Given the description of an element on the screen output the (x, y) to click on. 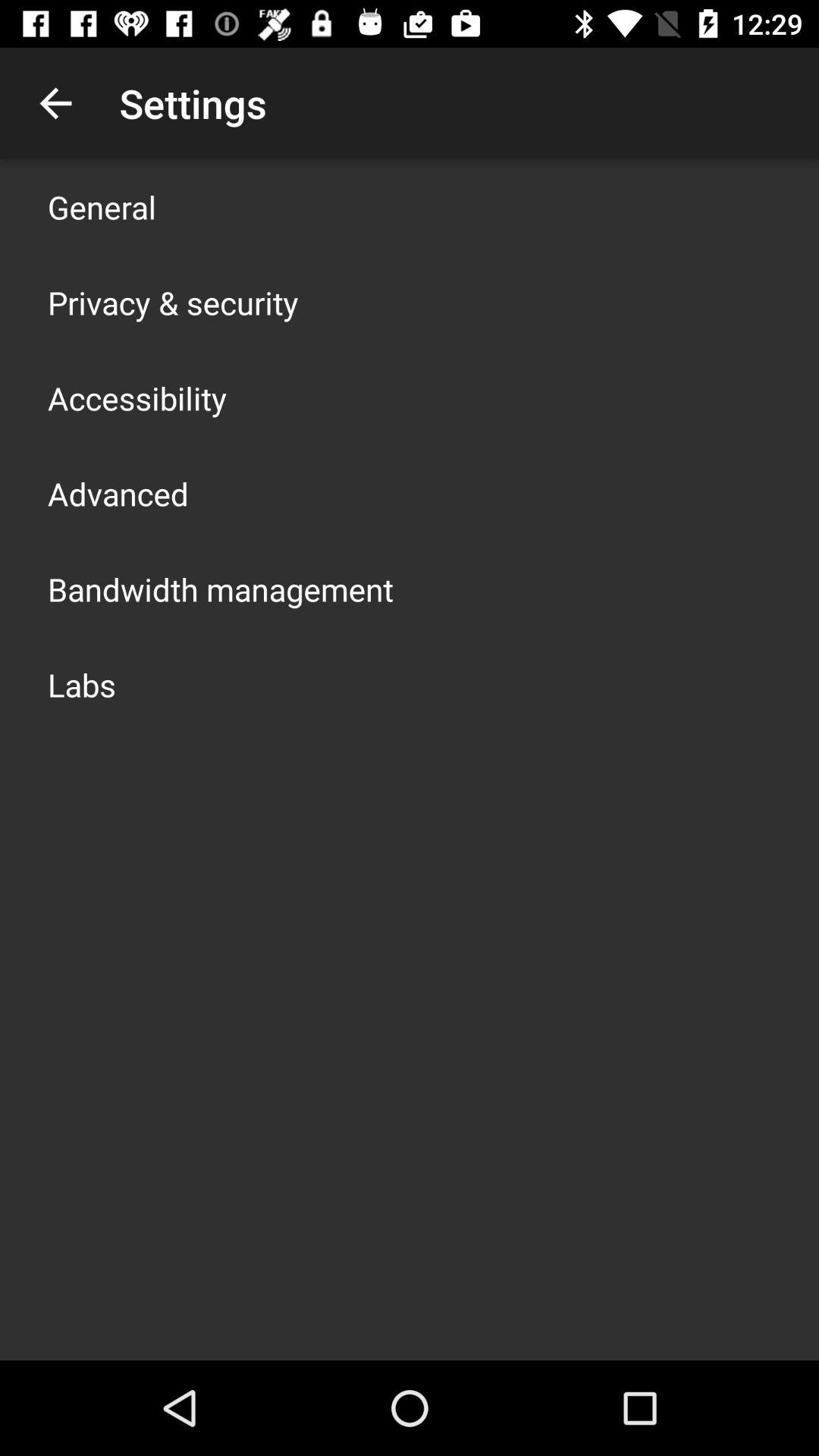
flip until general app (101, 206)
